Given the description of an element on the screen output the (x, y) to click on. 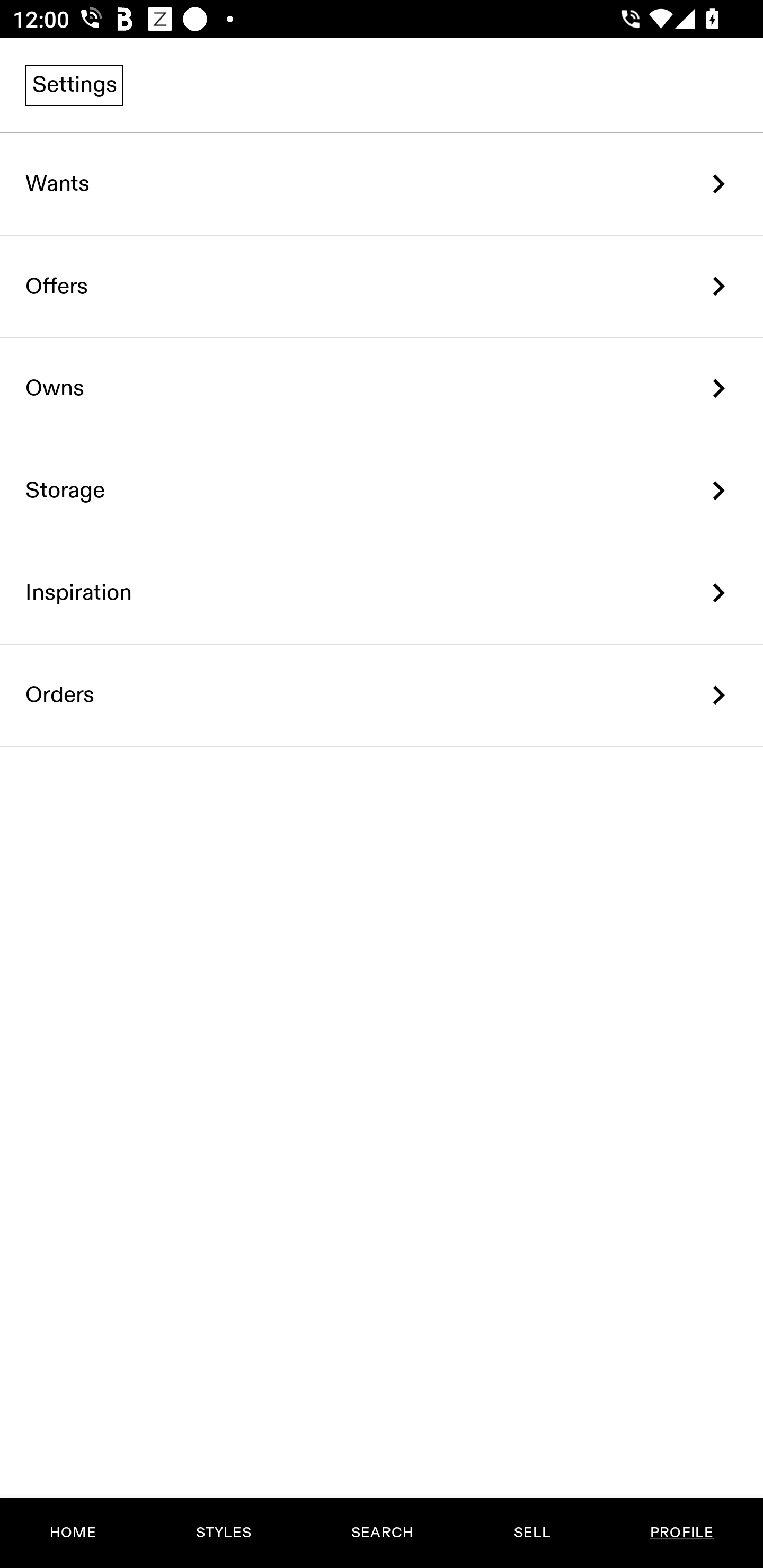
Settings (73, 85)
Wants (381, 184)
Offers (381, 286)
Owns (381, 388)
Storage (381, 491)
Inspiration (381, 593)
Orders (381, 695)
HOME (72, 1532)
STYLES (222, 1532)
SEARCH (381, 1532)
SELL (531, 1532)
PROFILE (681, 1532)
